Given the description of an element on the screen output the (x, y) to click on. 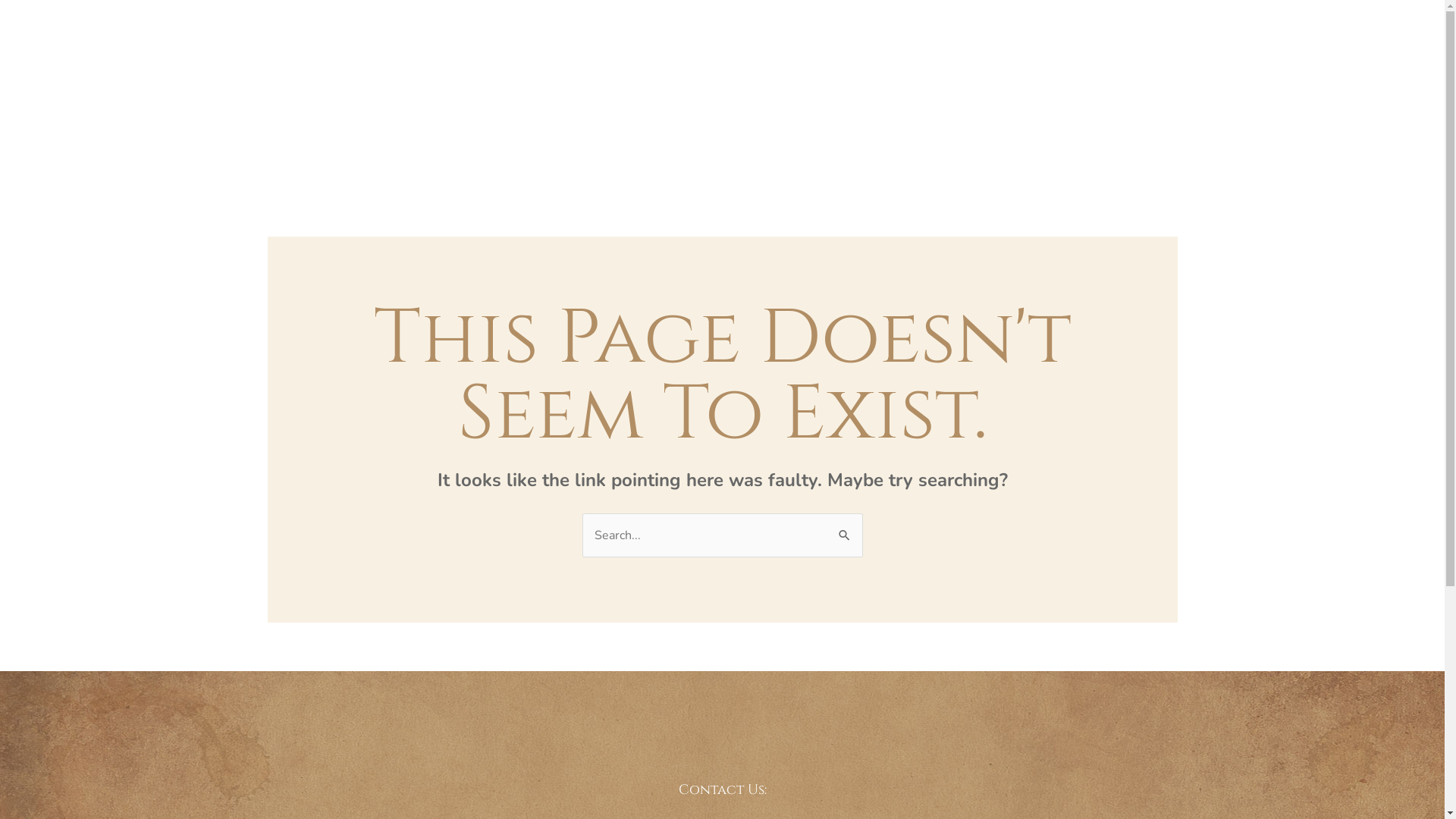
WEDDINGS Element type: text (902, 93)
Search Element type: text (845, 527)
WEDDINGS Element type: text (542, 93)
